Given the description of an element on the screen output the (x, y) to click on. 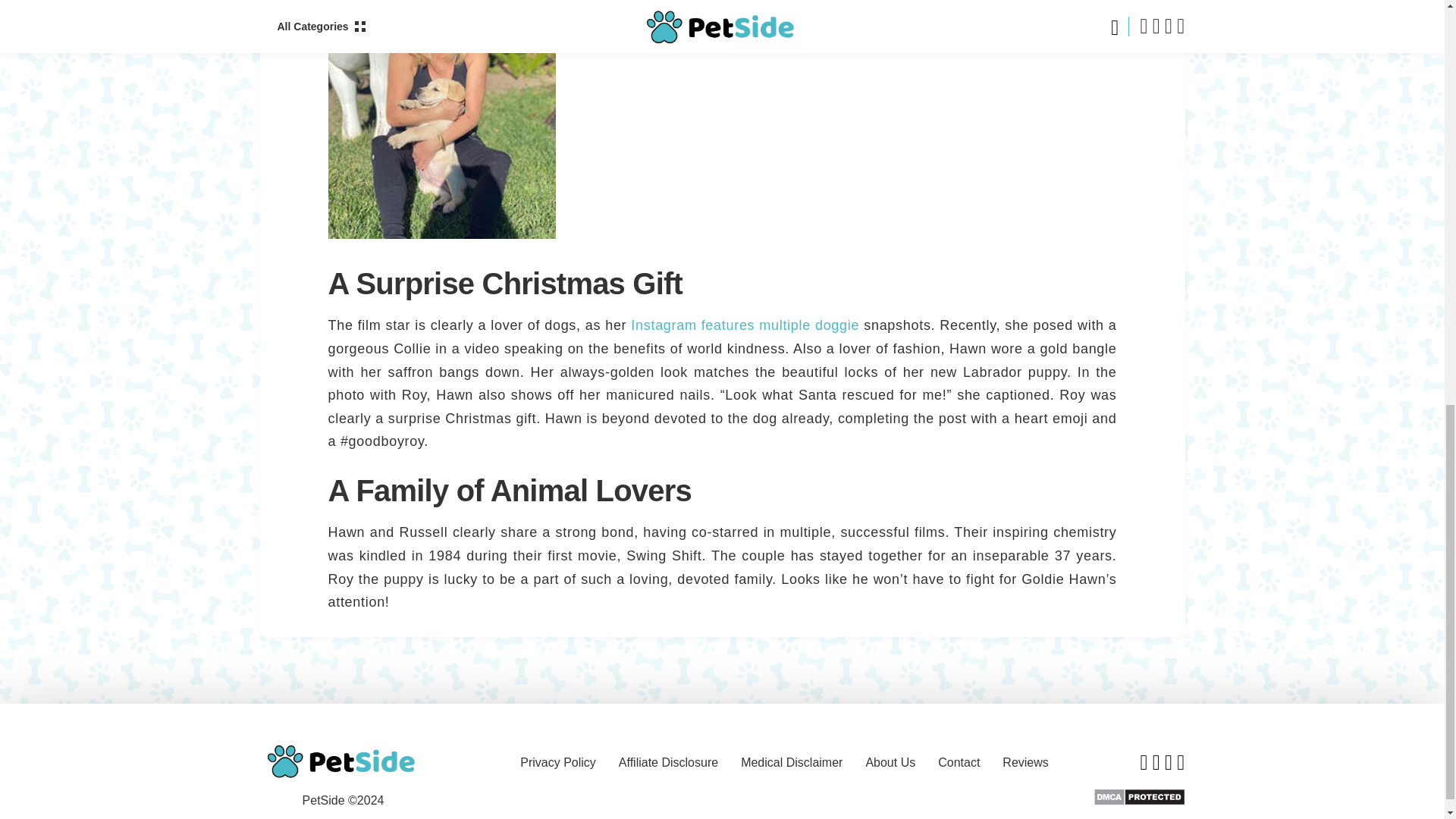
DMCA.com Protection Status (1139, 796)
